Given the description of an element on the screen output the (x, y) to click on. 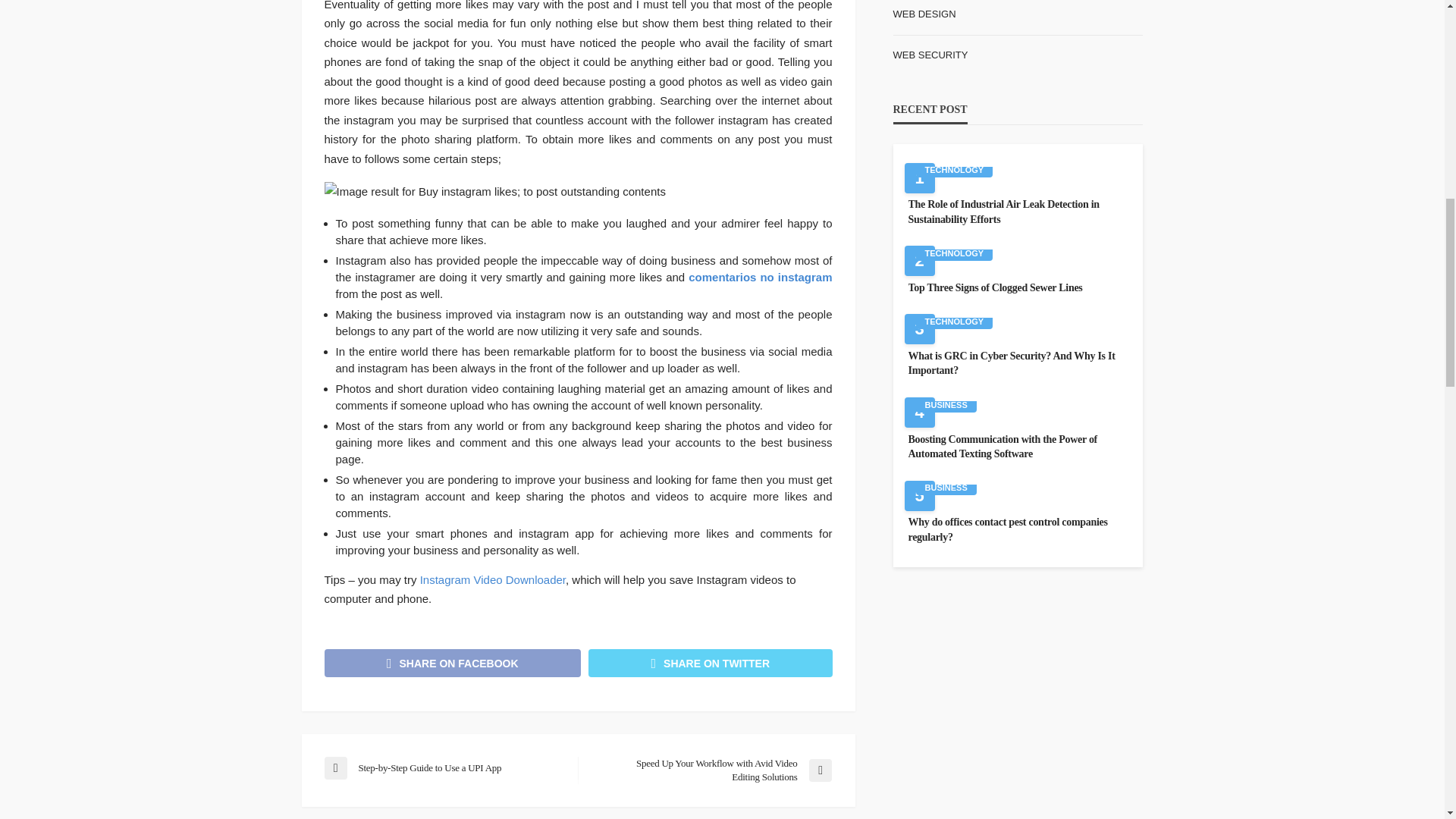
Step-by-Step Guide to Use a UPI App (443, 767)
Speed Up Your Workflow with Avid Video Editing Solutions (711, 769)
SHARE ON FACEBOOK (452, 663)
Speed Up Your Workflow with Avid Video Editing Solutions (711, 769)
comentarios no instagram (759, 277)
Step-by-Step Guide to Use a UPI App (443, 767)
SHARE ON TWITTER (709, 663)
Instagram Video Downloader (493, 579)
